Given the description of an element on the screen output the (x, y) to click on. 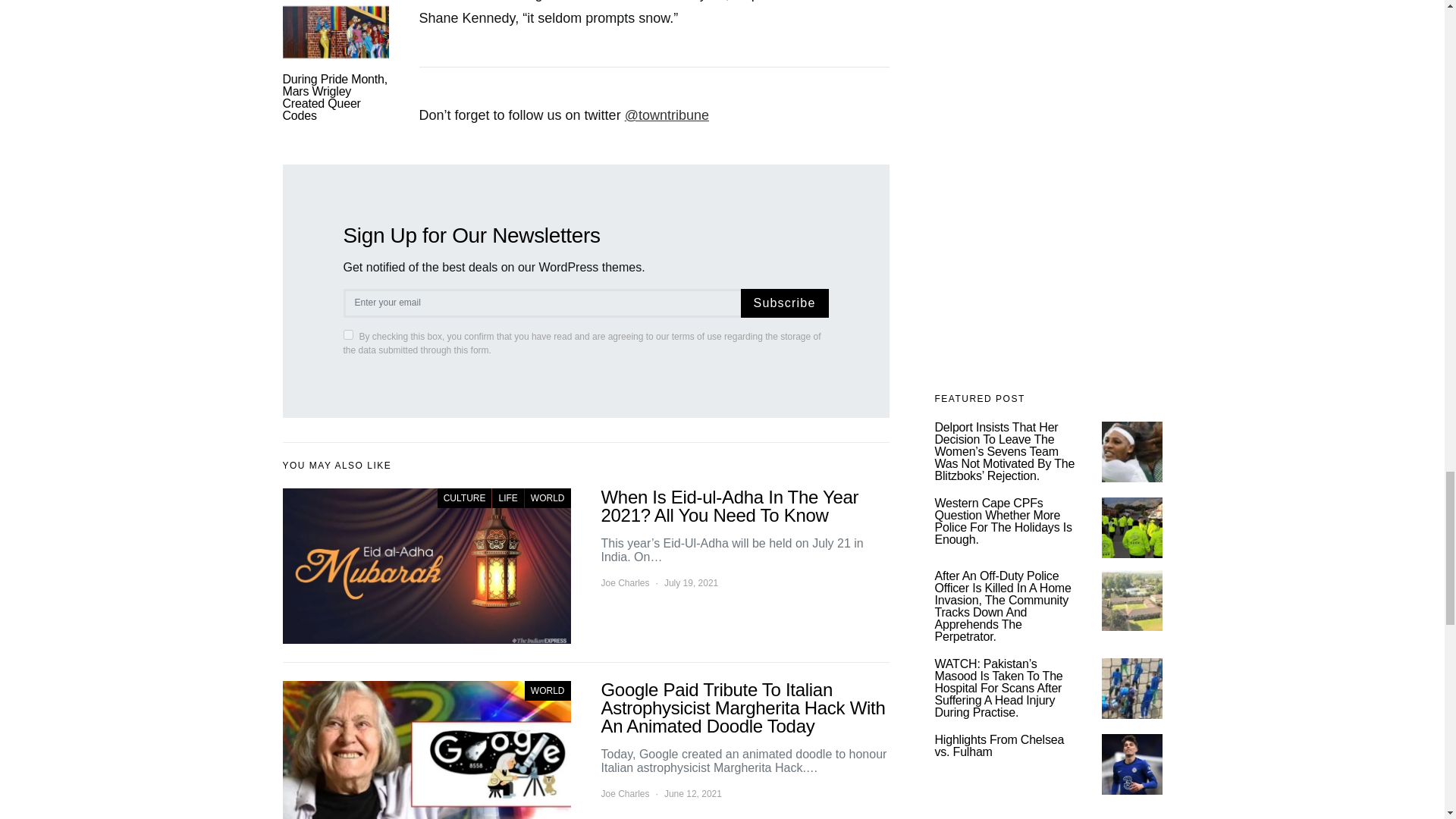
View all posts by Joe Charles (624, 582)
on (347, 334)
During Pride Month, Mars Wrigley Created Queer Codes (334, 97)
View all posts by Joe Charles (624, 793)
